Given the description of an element on the screen output the (x, y) to click on. 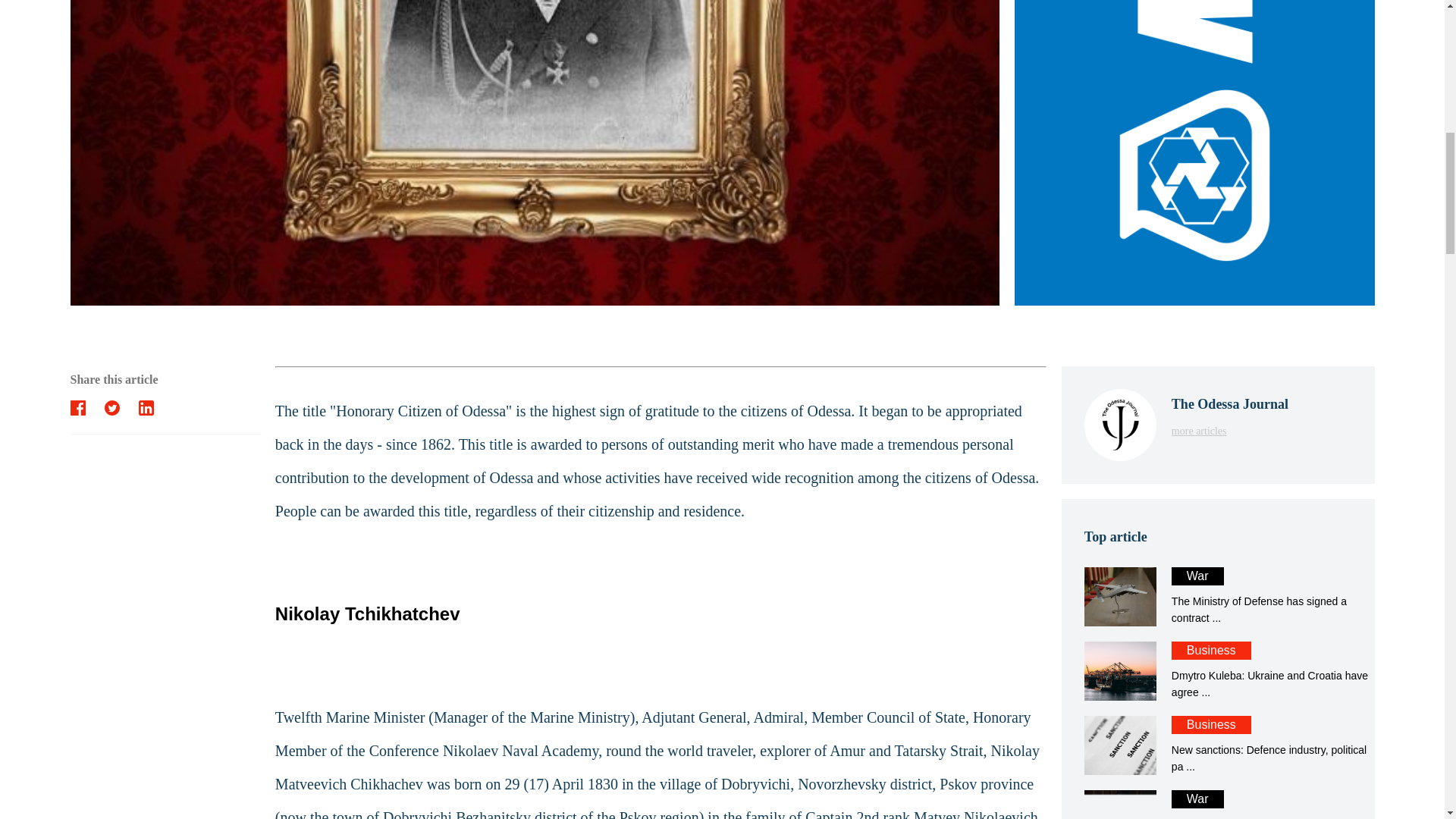
Read (1218, 596)
Read (1218, 744)
Read (1218, 804)
more articles (1218, 804)
Read (1218, 671)
more articles (1230, 430)
